Given the description of an element on the screen output the (x, y) to click on. 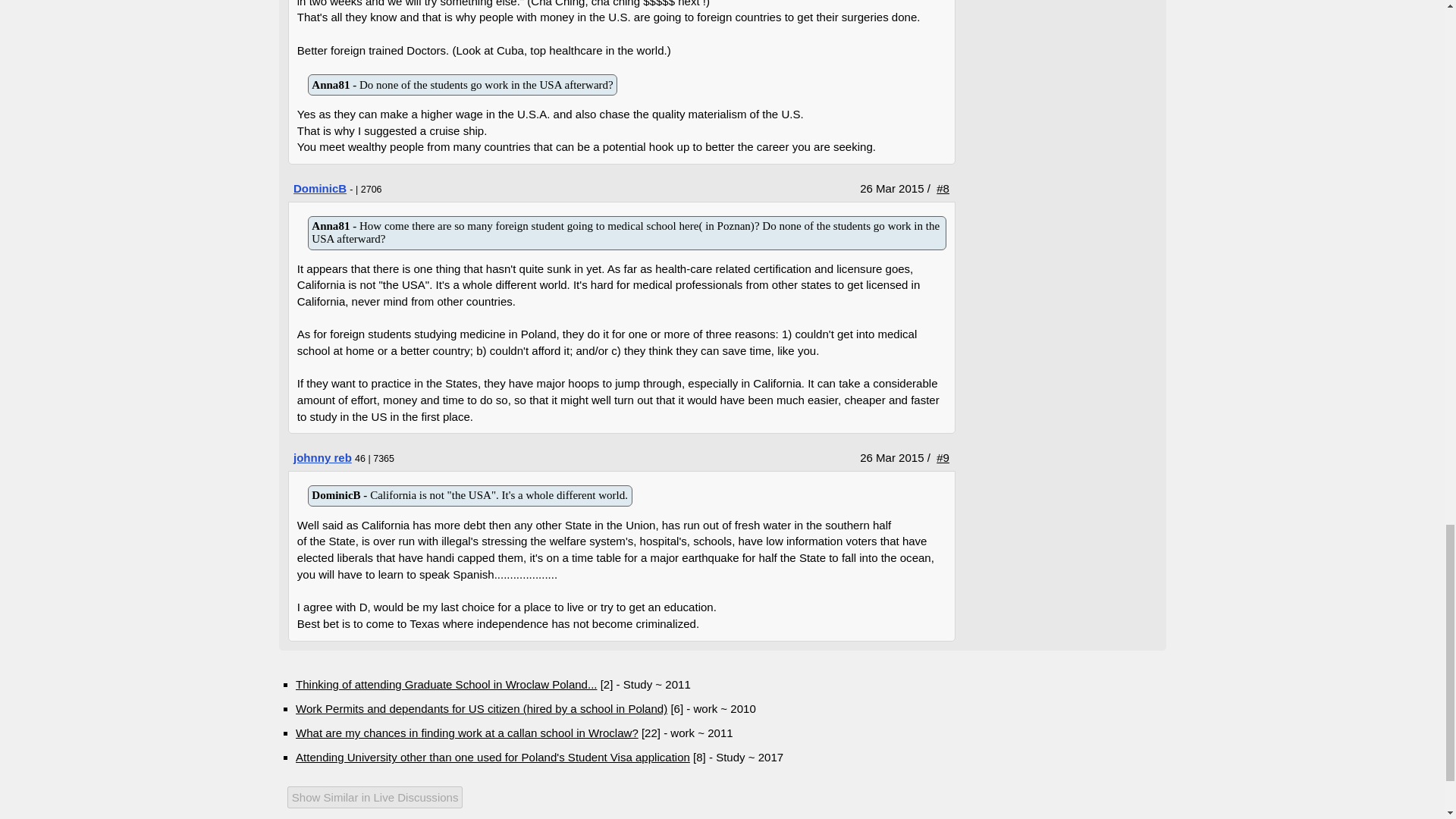
DominicB (320, 187)
johnny reb (323, 457)
Show Similar in Live Discussions (291, 798)
Thinking of attending Graduate School in Wroclaw Poland... (445, 684)
